Given the description of an element on the screen output the (x, y) to click on. 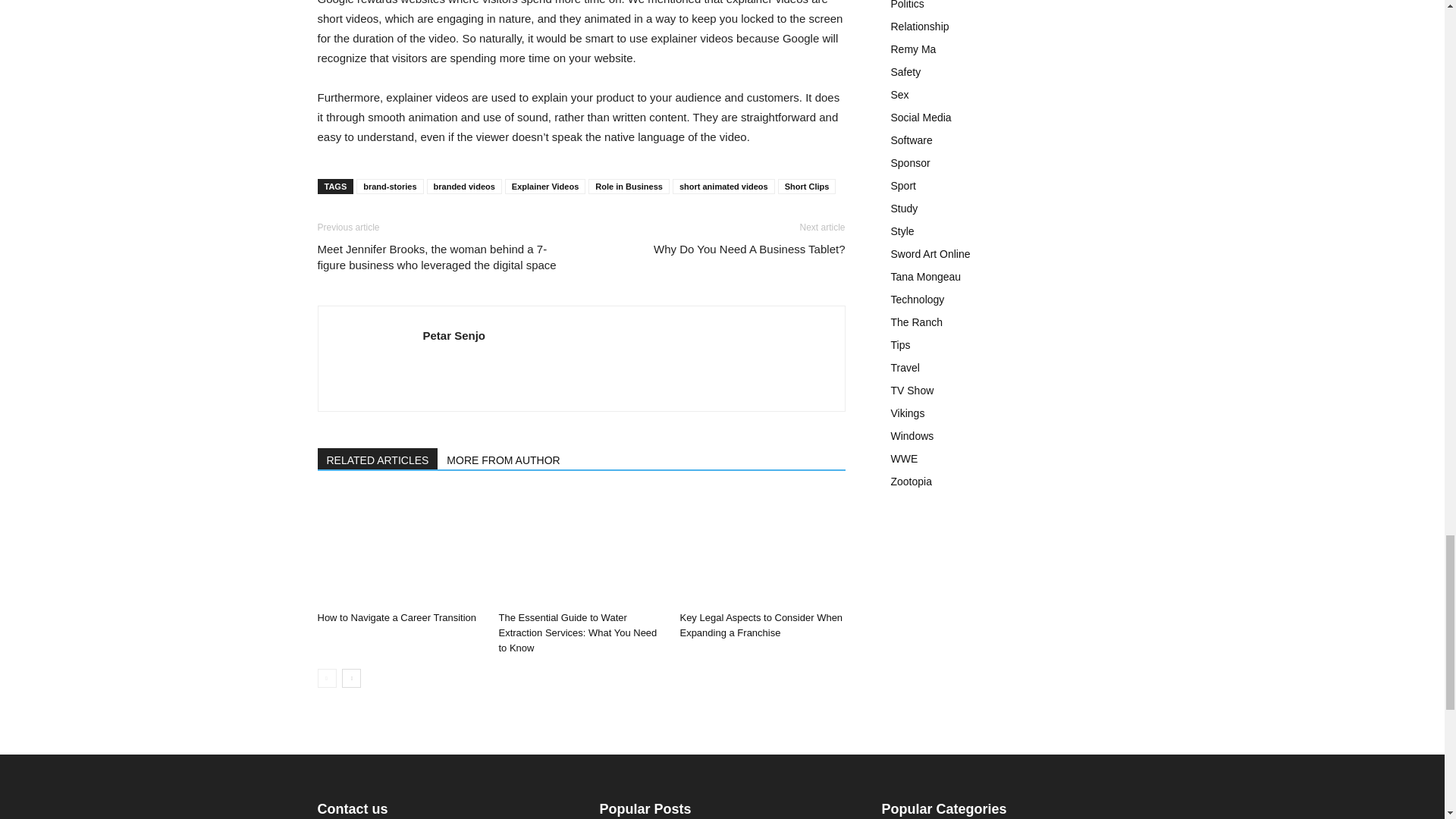
short animated videos (723, 186)
How to Navigate a Career Transition (396, 617)
Role in Business (628, 186)
Explainer Videos (545, 186)
Short Clips (806, 186)
brand-stories (389, 186)
How to Navigate a Career Transition (399, 548)
branded videos (464, 186)
Key Legal Aspects to Consider When Expanding a Franchise (761, 548)
